Given the description of an element on the screen output the (x, y) to click on. 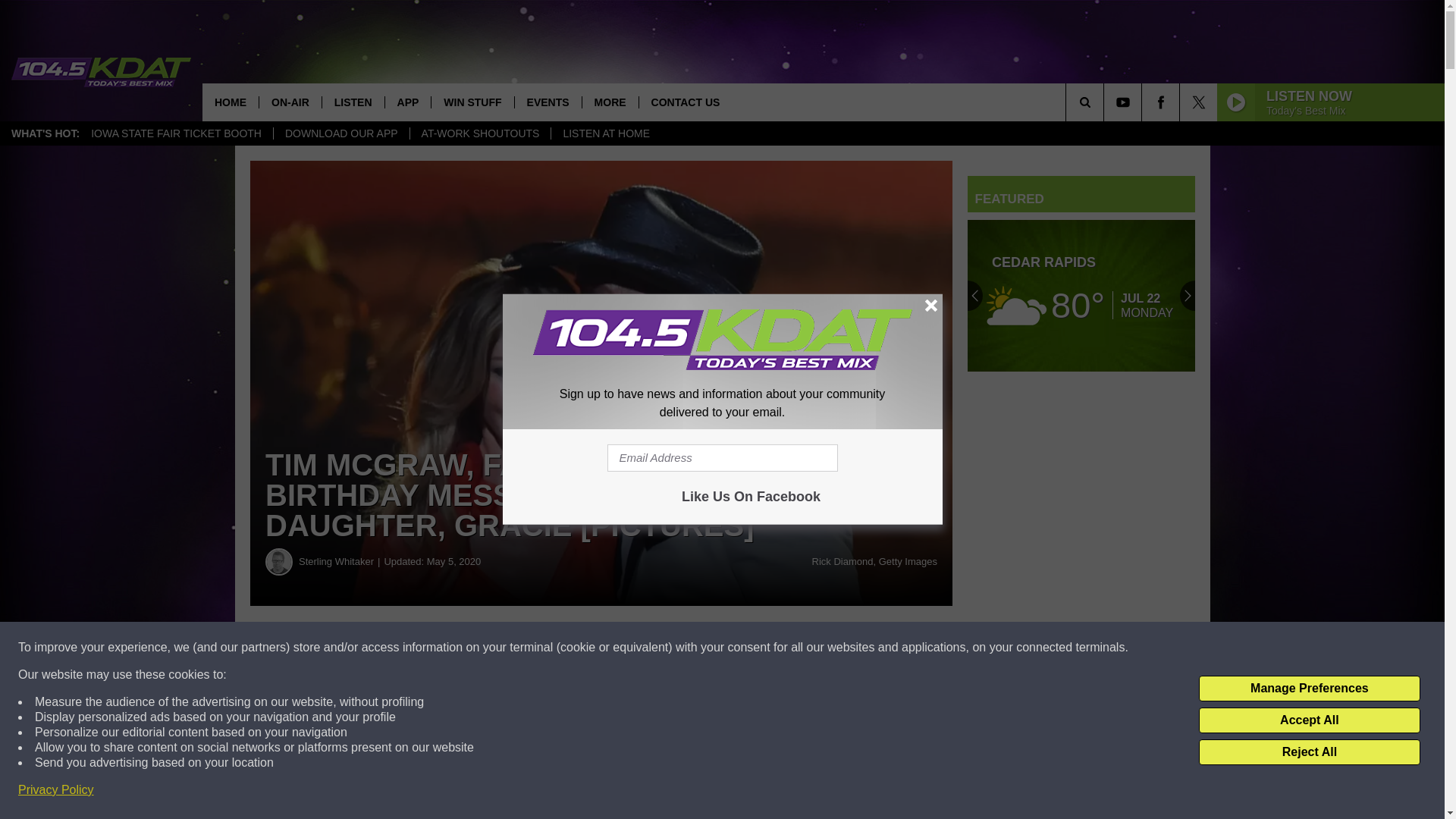
IOWA STATE FAIR TICKET BOOTH (176, 133)
WIN STUFF (471, 102)
Privacy Policy (55, 789)
ON-AIR (290, 102)
SEARCH (1106, 102)
SEARCH (1106, 102)
Cedar Rapids Weather (1081, 295)
Email Address (722, 457)
Share on Facebook (460, 647)
Manage Preferences (1309, 688)
MORE (609, 102)
Reject All (1309, 751)
Share on Twitter (741, 647)
EVENTS (546, 102)
APP (407, 102)
